Given the description of an element on the screen output the (x, y) to click on. 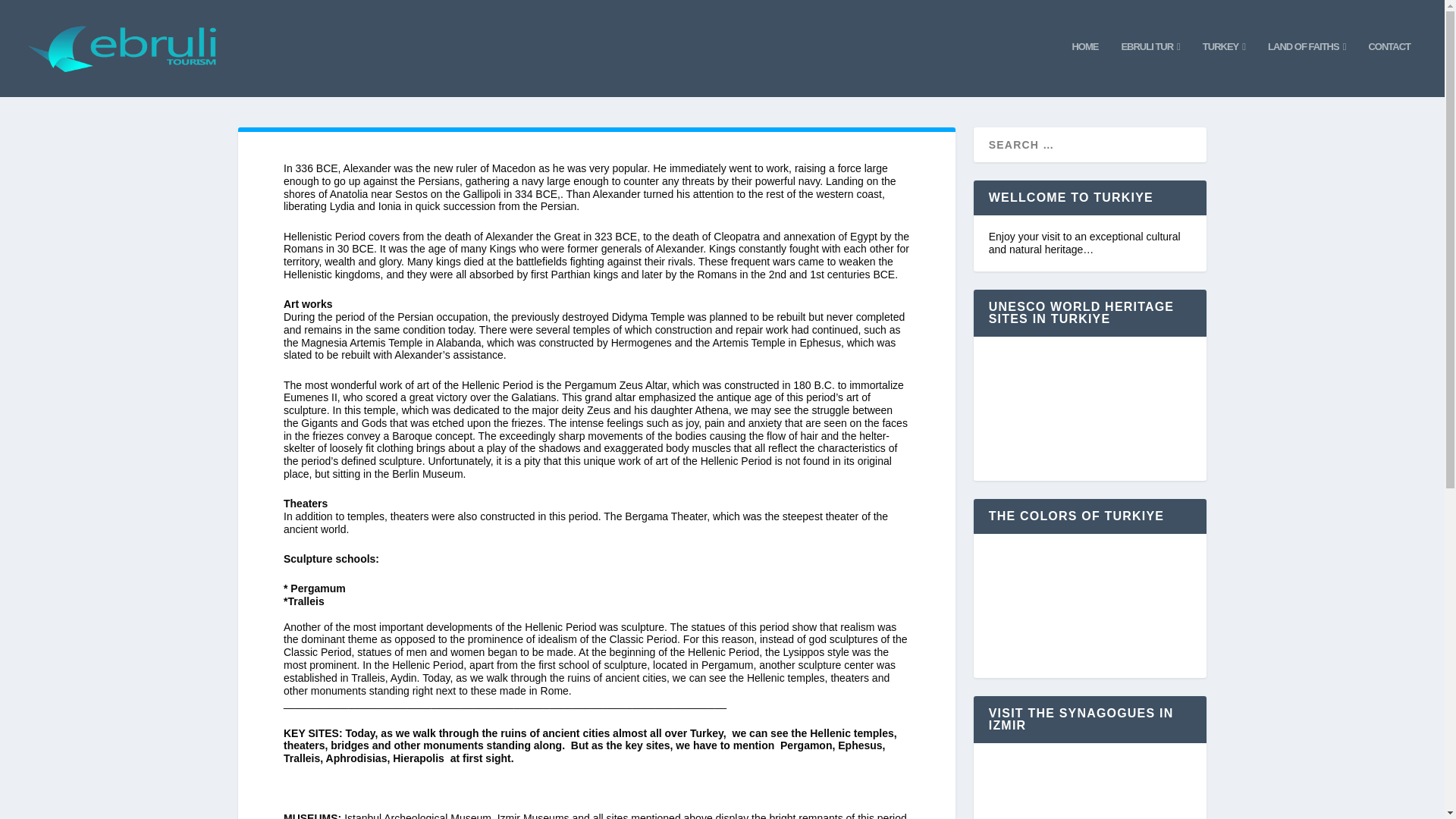
EBRULI TUR (1150, 68)
YouTube video player (1089, 605)
LAND OF FAITHS (1306, 68)
YouTube video player (1089, 788)
YouTube video player (1089, 409)
